Given the description of an element on the screen output the (x, y) to click on. 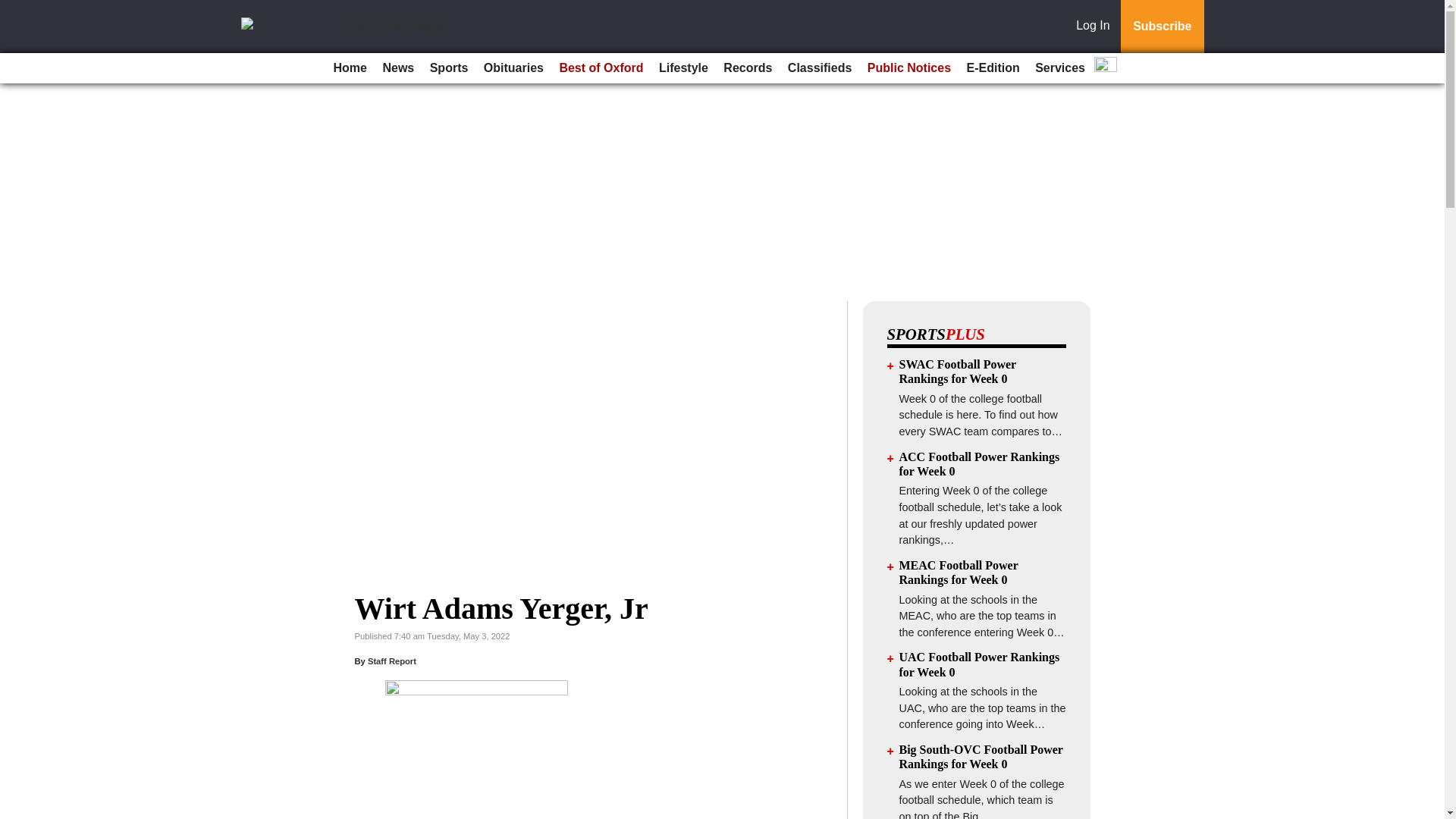
MEAC Football Power Rankings for Week 0 (958, 572)
Best of Oxford (601, 68)
Sports (448, 68)
Home (349, 68)
Records (747, 68)
SWAC Football Power Rankings for Week 0 (957, 370)
News (397, 68)
Go (13, 9)
ACC Football Power Rankings for Week 0 (979, 463)
Log In (1095, 26)
